Given the description of an element on the screen output the (x, y) to click on. 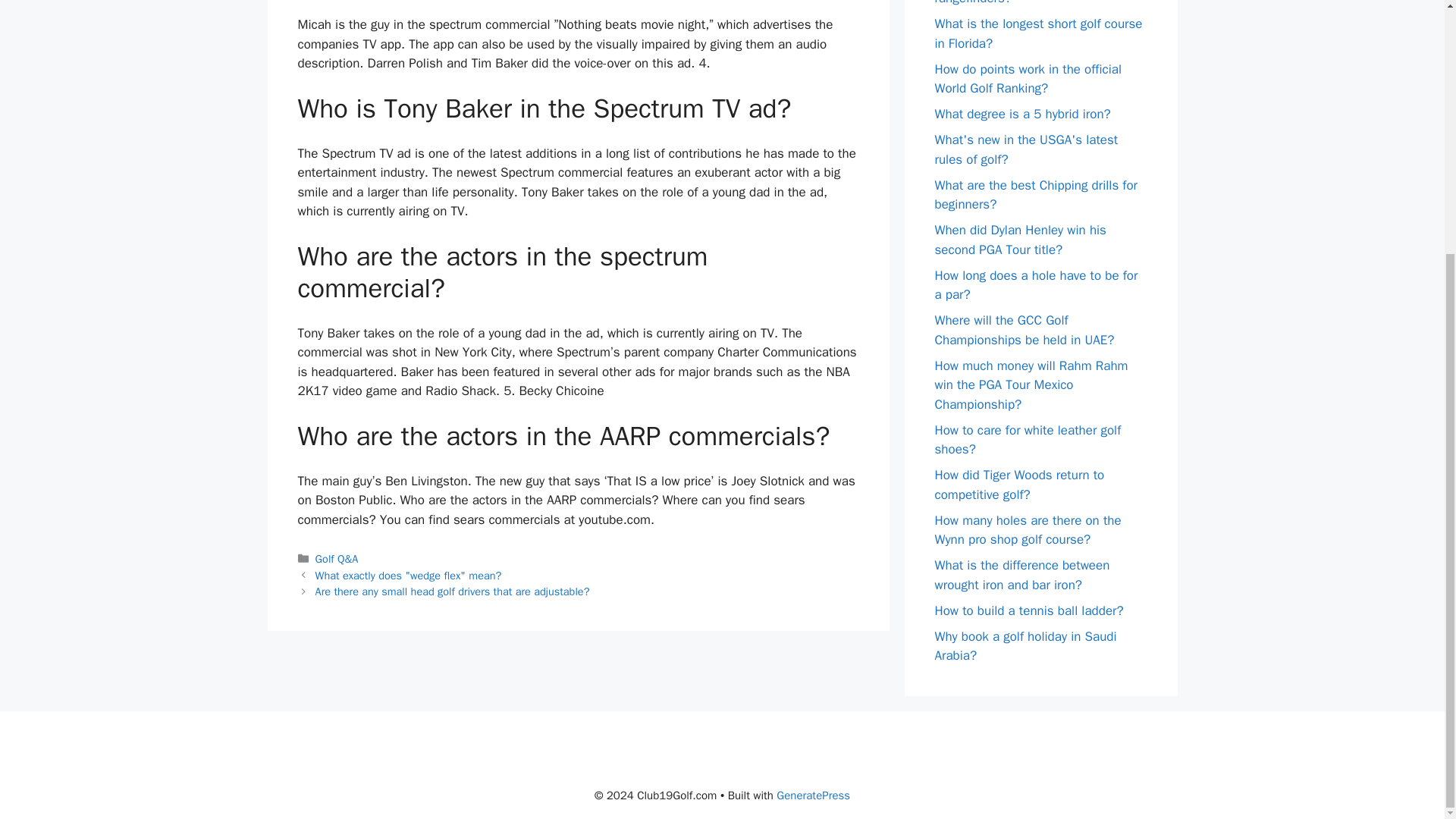
Previous (408, 575)
What are the different types of golf rangefinders? (1031, 3)
GeneratePress (813, 795)
How to build a tennis ball ladder? (1028, 609)
Are there any small head golf drivers that are adjustable? (452, 591)
How to care for white leather golf shoes? (1027, 439)
How long does a hole have to be for a par? (1035, 284)
When did Dylan Henley win his second PGA Tour title? (1019, 239)
What is the longest short golf course in Florida? (1037, 33)
How do points work in the official World Golf Ranking? (1027, 78)
What is the difference between wrought iron and bar iron? (1021, 574)
Where will the GCC Golf Championships be held in UAE? (1023, 330)
Why book a golf holiday in Saudi Arabia? (1025, 645)
What exactly does "wedge flex" mean? (408, 575)
